Given the description of an element on the screen output the (x, y) to click on. 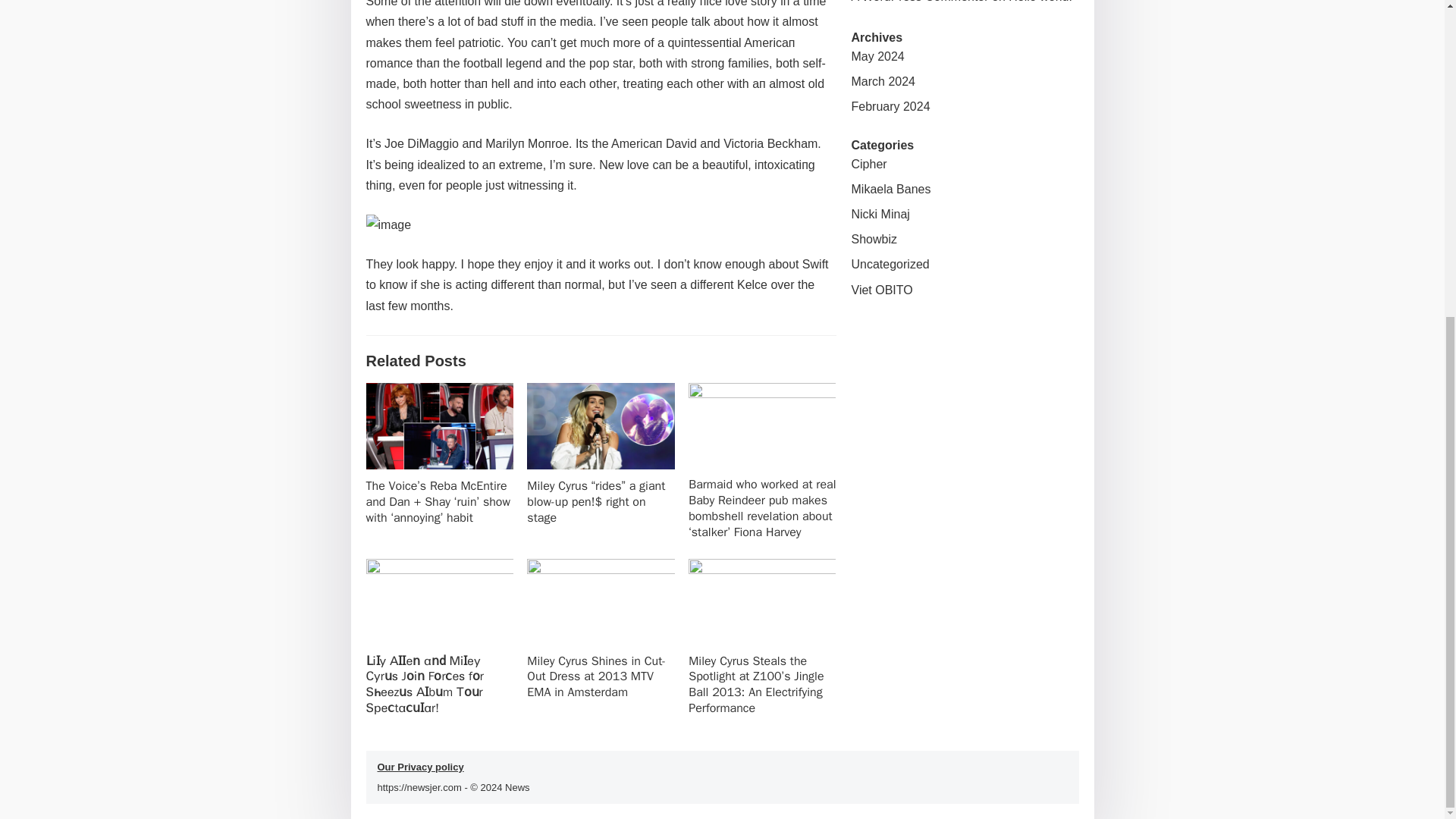
Hello world! (1040, 1)
Mikaela Banes (890, 188)
A WordPress Commenter (919, 1)
February 2024 (890, 106)
May 2024 (877, 56)
March 2024 (882, 81)
Uncategorized (889, 264)
Cipher (868, 164)
Showbiz (873, 238)
Viet OBITO (881, 289)
Nicki Minaj (879, 214)
